Given the description of an element on the screen output the (x, y) to click on. 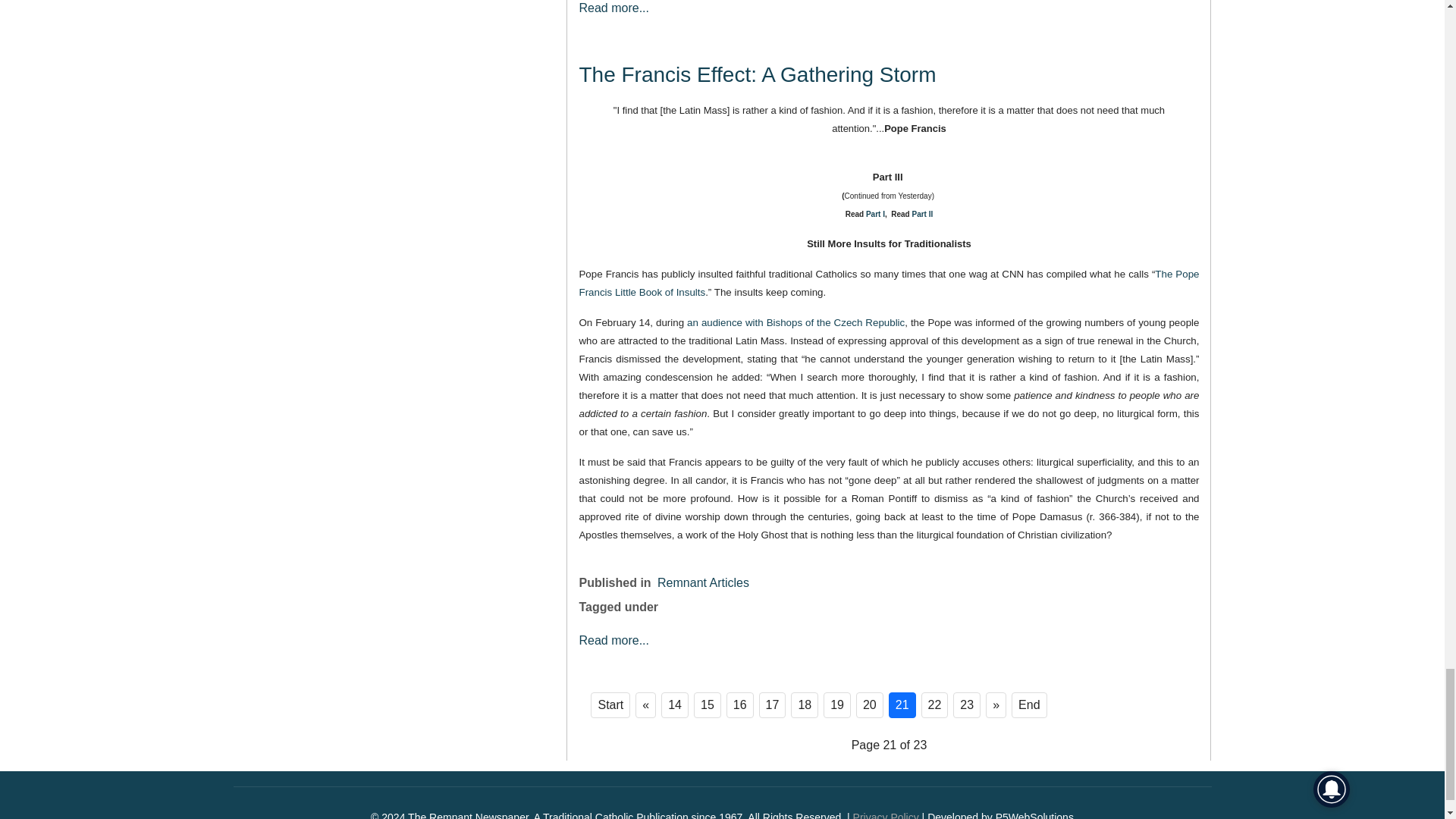
23 (966, 705)
17 (772, 705)
19 (837, 705)
18 (804, 705)
End (1028, 705)
14 (674, 705)
16 (740, 705)
15 (707, 705)
20 (869, 705)
Start (610, 705)
22 (935, 705)
